Given the description of an element on the screen output the (x, y) to click on. 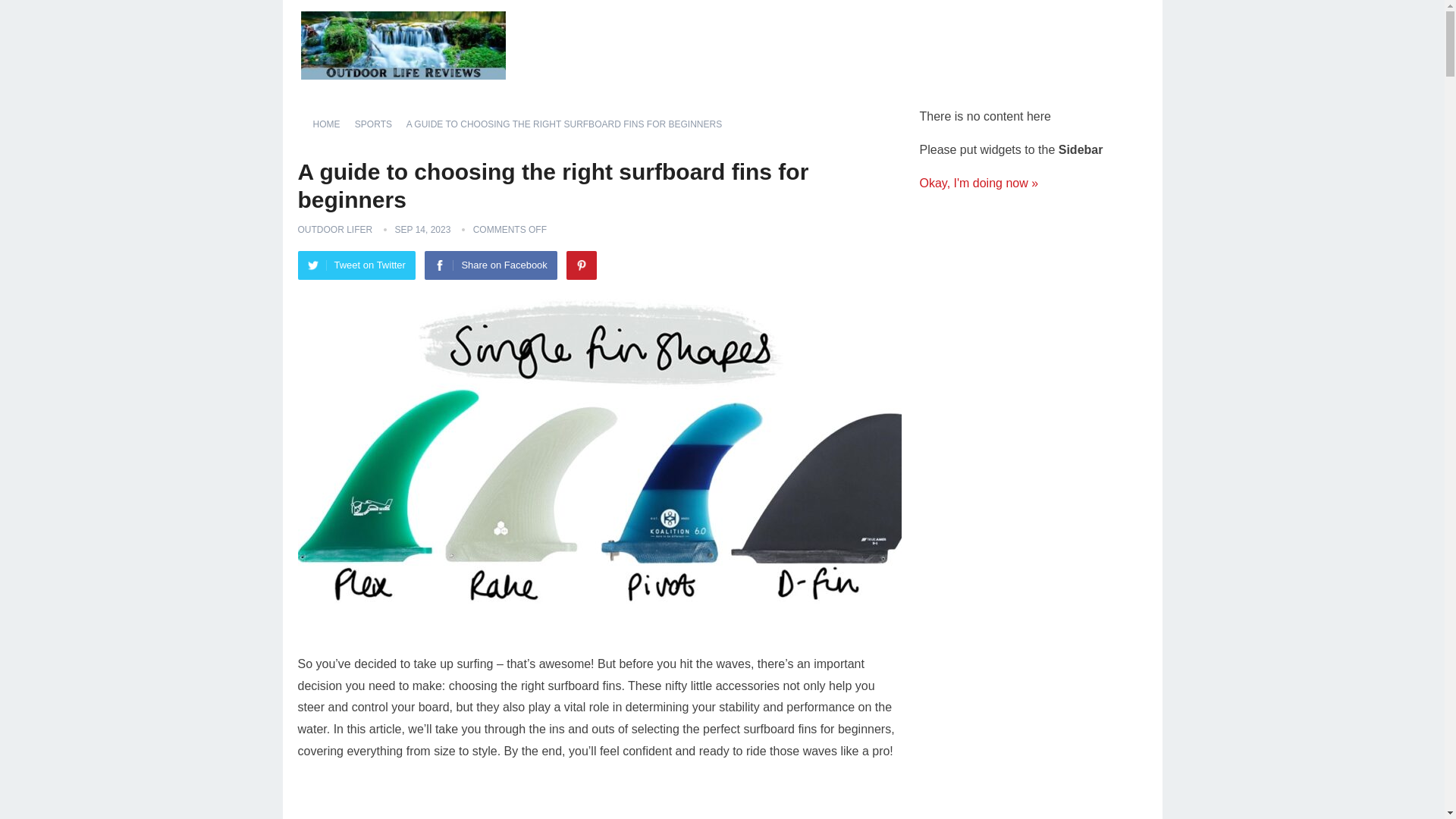
Pinterest (581, 265)
View all posts in Sports (379, 123)
Tweet on Twitter (355, 265)
OUTDOOR LIFER (334, 229)
Posts by Outdoor Lifer (334, 229)
HOME (331, 123)
Share on Facebook (490, 265)
SPORTS (379, 123)
